Given the description of an element on the screen output the (x, y) to click on. 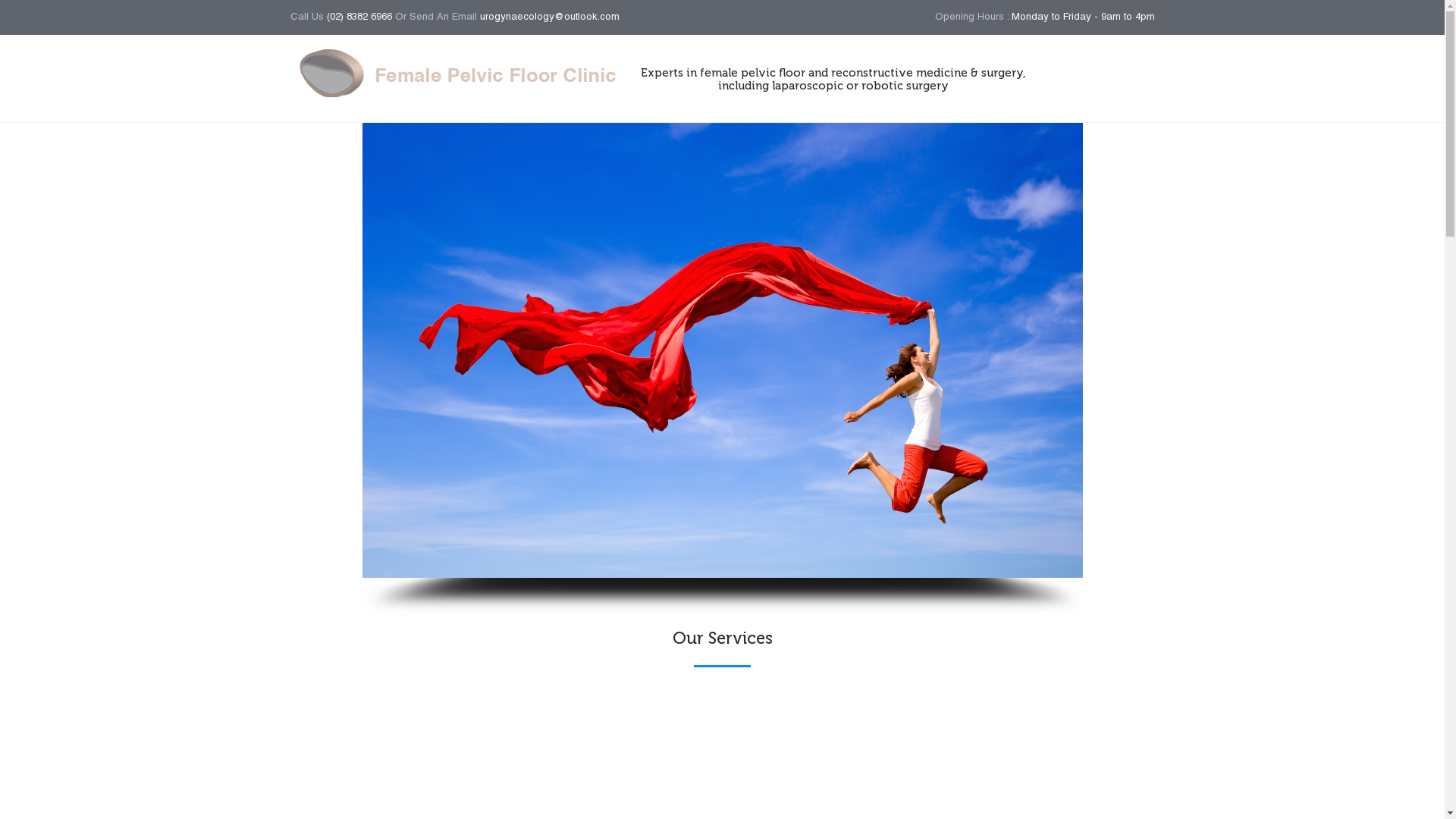
urogynaecology@outlook.com Element type: text (548, 16)
